Given the description of an element on the screen output the (x, y) to click on. 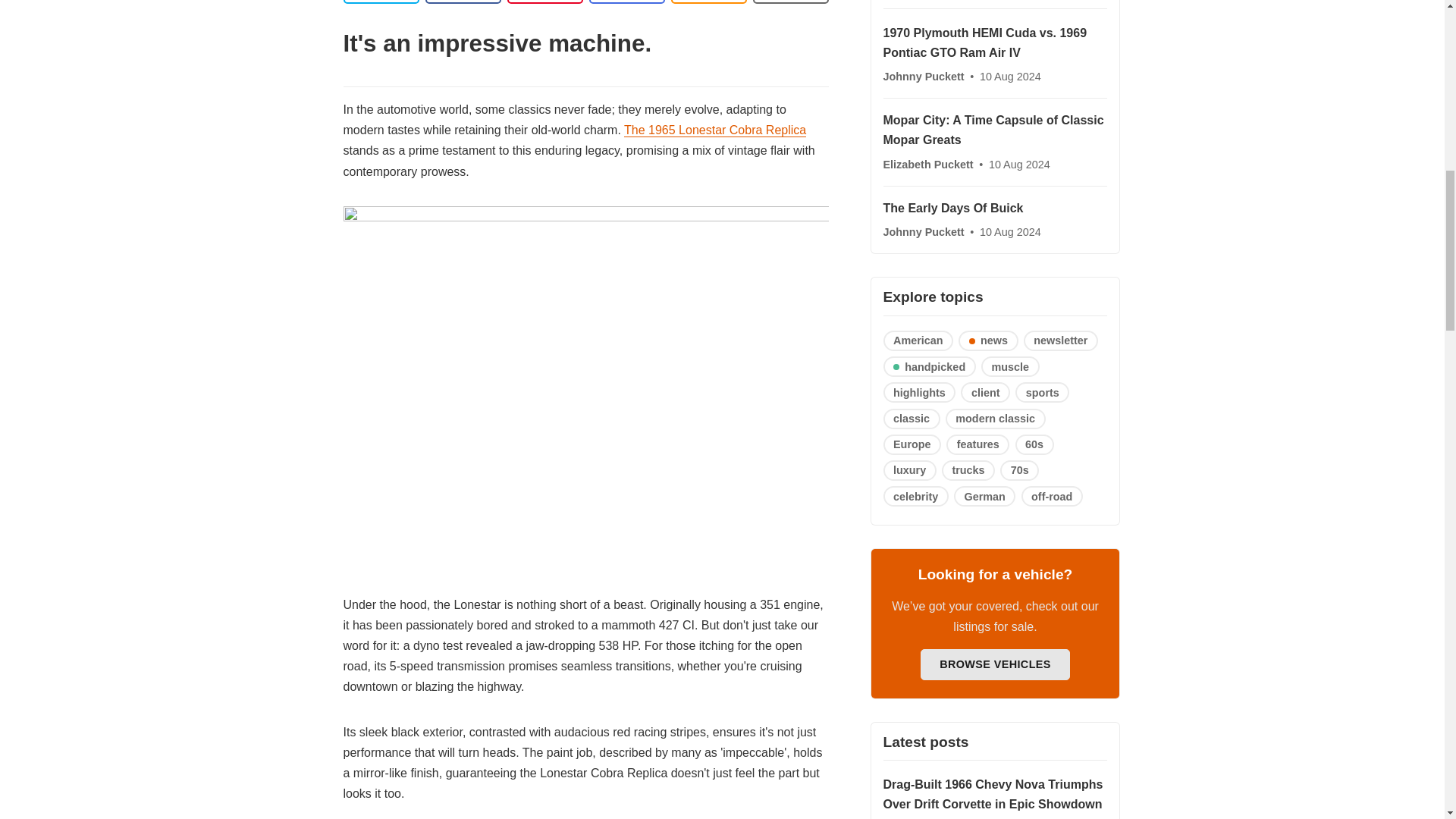
Share on Linkedin (544, 1)
The 1965 Lonestar Cobra Replica (715, 130)
American (917, 340)
Copy to clipboard (707, 1)
Johnny Puckett (924, 232)
Johnny Puckett (924, 76)
Share on Facebook (462, 1)
Share by email (625, 1)
Bookmark (790, 1)
Share on Twitter (380, 1)
